Given the description of an element on the screen output the (x, y) to click on. 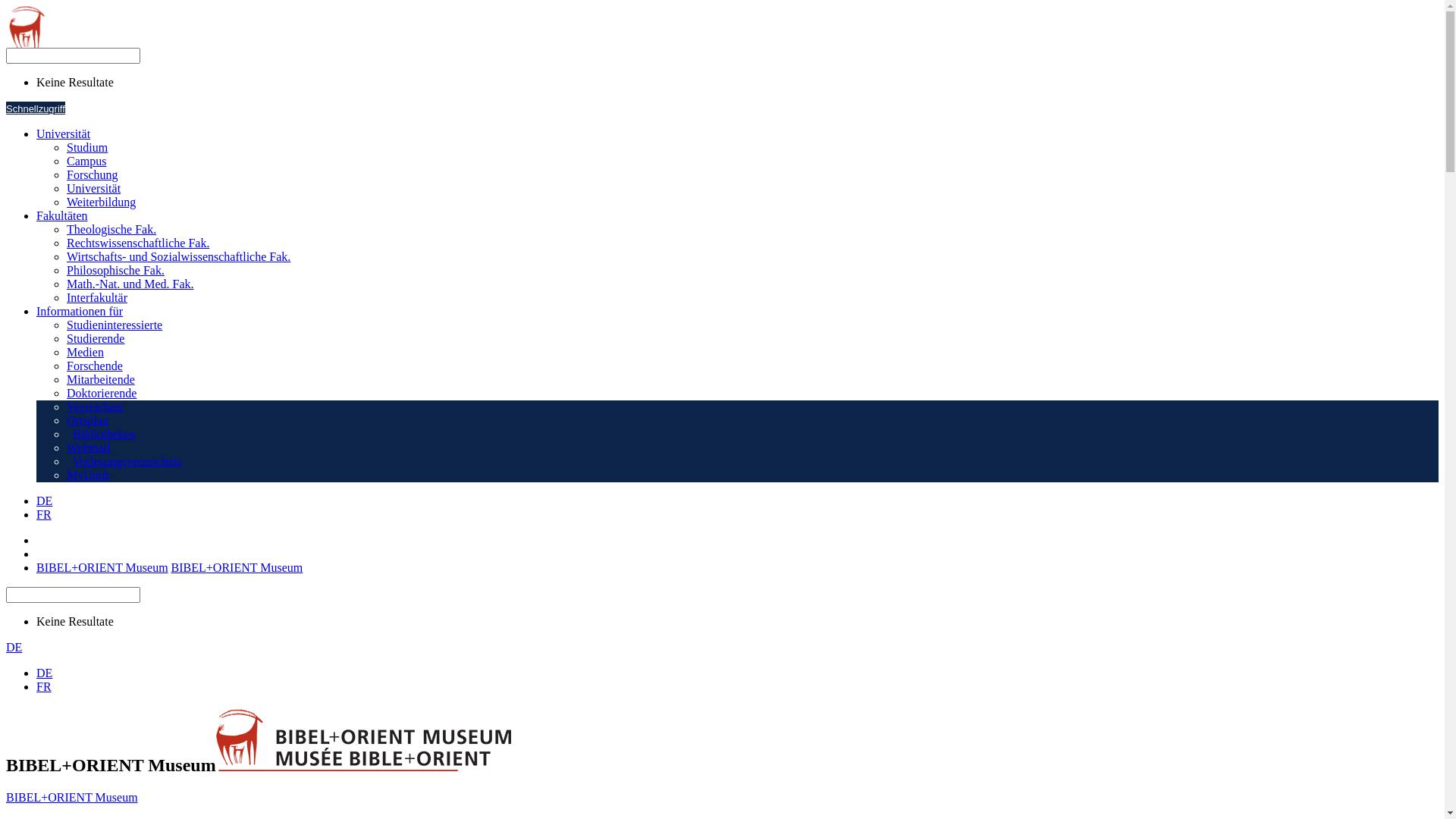
Medien Element type: text (84, 351)
Doktorierende Element type: text (101, 392)
Forschung Element type: text (92, 174)
DE Element type: text (44, 500)
BIBEL+ORIENT Museum Element type: text (72, 796)
Rechtswissenschaftliche Fak. Element type: text (137, 242)
Bibliotheken Element type: text (100, 433)
Studieninteressierte Element type: text (114, 324)
Webmail Element type: text (87, 447)
Studium Element type: text (86, 147)
Studierende Element type: text (95, 338)
BIBEL+ORIENT Museum Element type: text (237, 567)
Verzeichnis Element type: text (94, 406)
Weiterbildung Element type: text (100, 201)
MyUnifr Element type: text (87, 474)
Vorlesungsverzeichnis Element type: text (124, 461)
Philosophische Fak. Element type: text (115, 269)
Schnellzugriff Element type: text (35, 107)
Forschende Element type: text (94, 365)
DE Element type: text (44, 672)
Wirtschafts- und Sozialwissenschaftliche Fak. Element type: text (178, 256)
Mitarbeitende Element type: text (100, 379)
FR Element type: text (43, 514)
DE Element type: text (13, 646)
Theologische Fak. Element type: text (111, 228)
Ortsplan Element type: text (87, 420)
Math.-Nat. und Med. Fak. Element type: text (130, 283)
Campus Element type: text (86, 160)
BIBEL+ORIENT Museum Element type: text (102, 567)
FR Element type: text (43, 686)
